Given the description of an element on the screen output the (x, y) to click on. 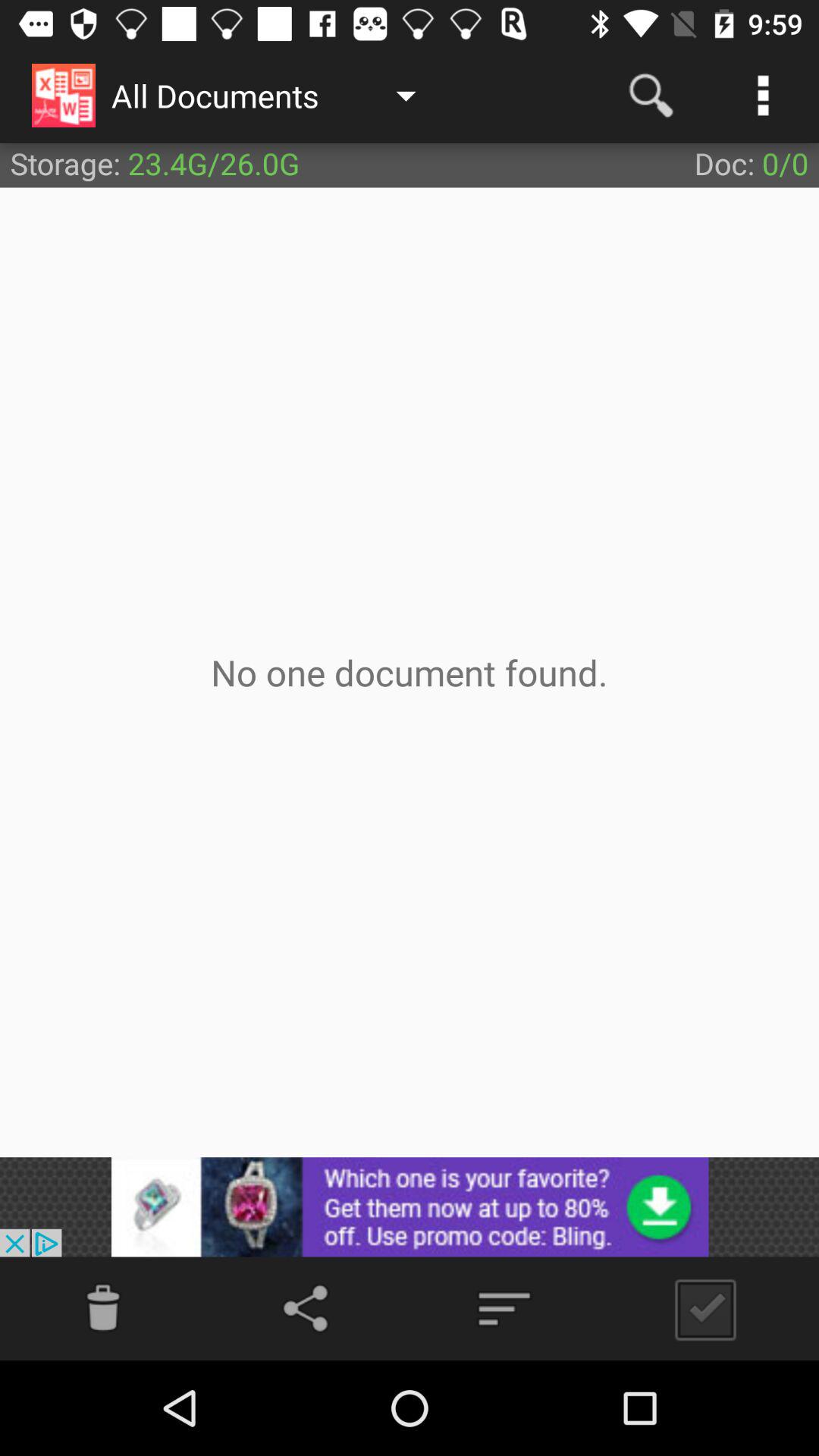
share options (308, 1308)
